Given the description of an element on the screen output the (x, y) to click on. 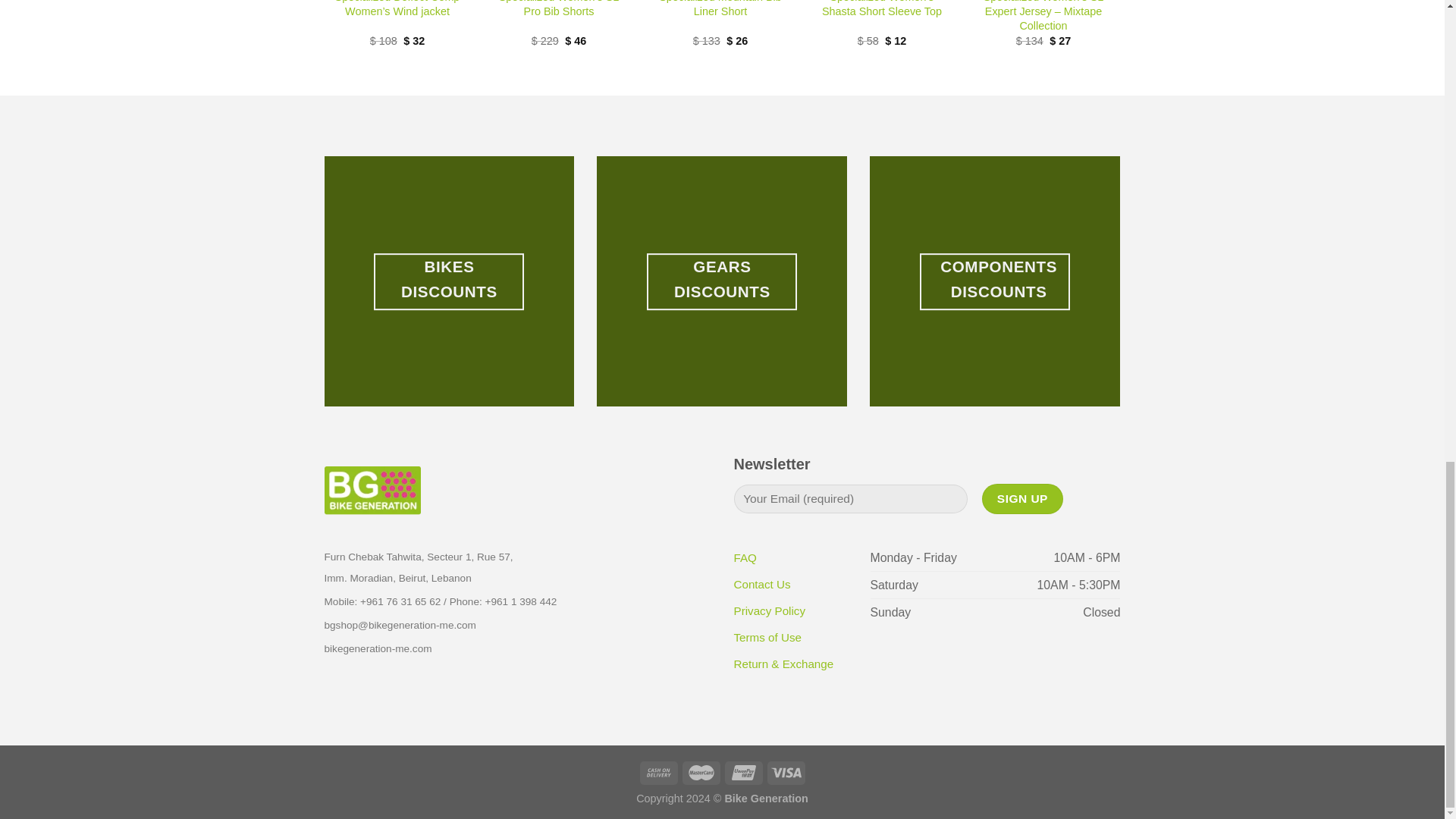
Sign Up (1021, 498)
